Given the description of an element on the screen output the (x, y) to click on. 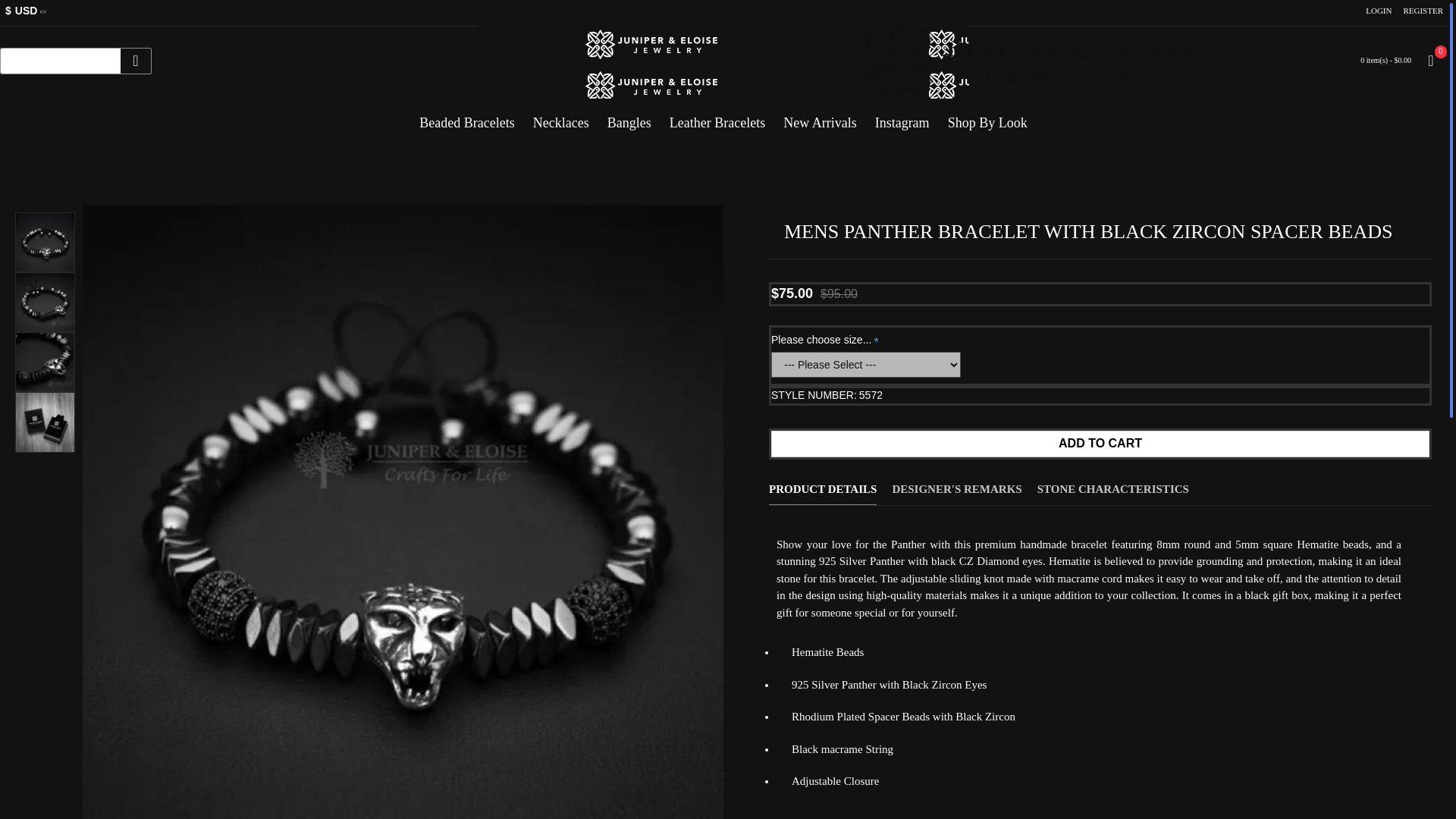
New Arrivals (819, 117)
PRODUCT DETAILS (822, 481)
Bangles (629, 117)
Beaded Bracelets (466, 117)
ADD TO CART (1100, 443)
Mens Panther Bracelet With Black Zircon Spacer Beads (44, 422)
DESIGNER'S REMARKS (956, 481)
Mens Panther Bracelet With Black Zircon Spacer Beads (44, 241)
Leather Bracelets (717, 117)
Instagram (902, 117)
